Given the description of an element on the screen output the (x, y) to click on. 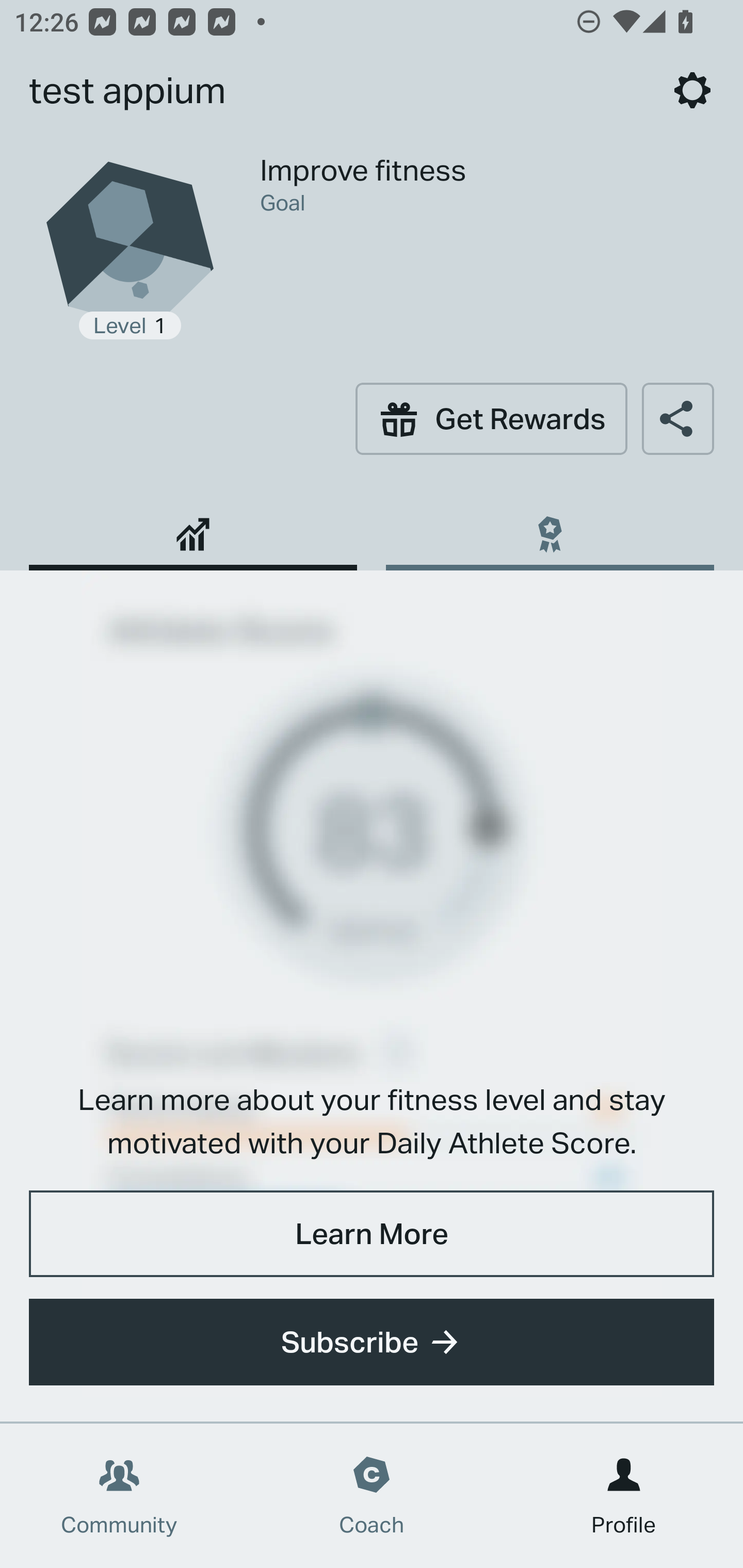
Settings (692, 90)
Get Rewards (491, 418)
Daily Athlete Score (192, 527)
Hall of Fame (549, 527)
Learn More (371, 1233)
Subscribe (371, 1342)
Community (119, 1495)
Coach (371, 1495)
